Given the description of an element on the screen output the (x, y) to click on. 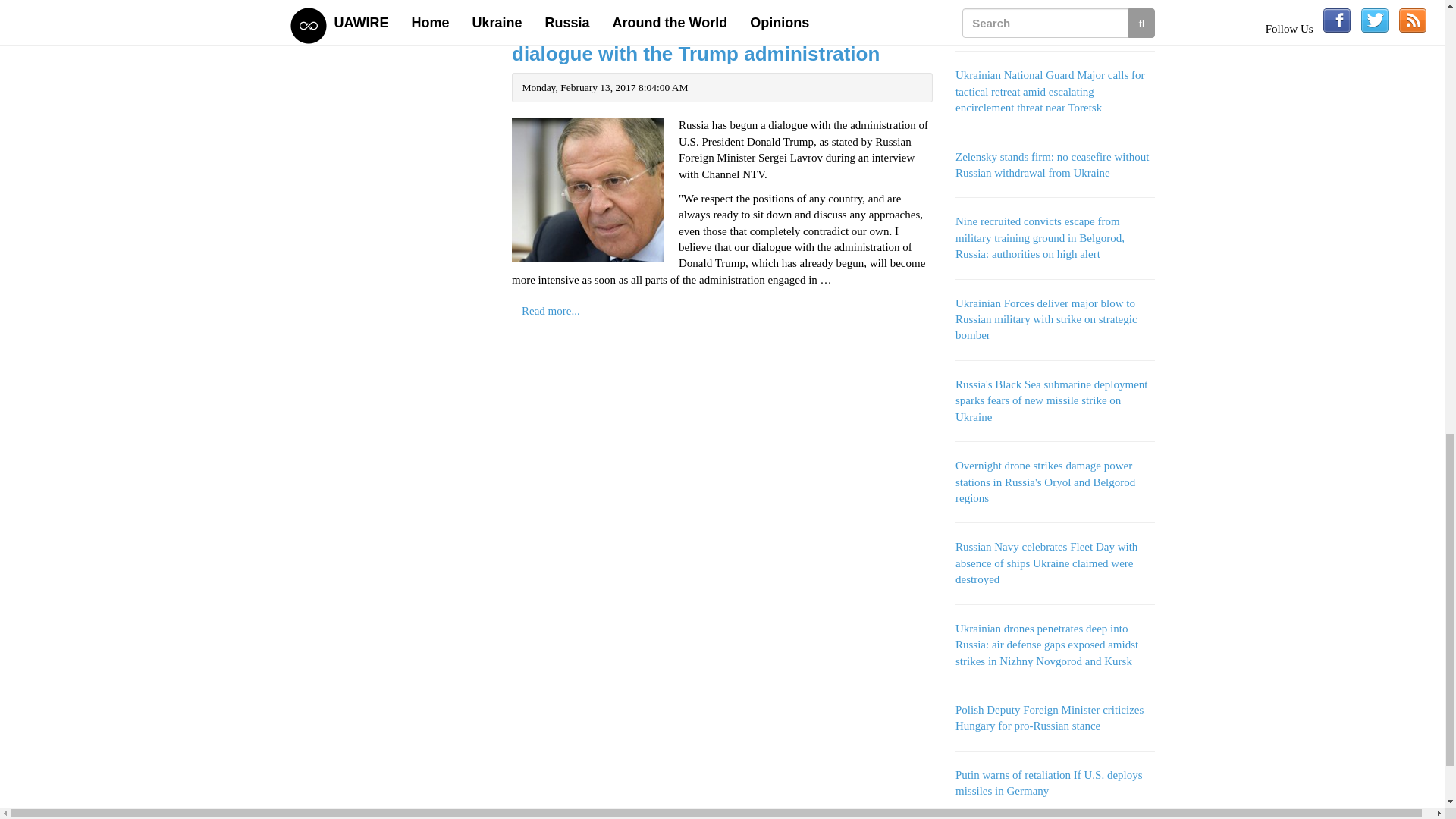
Read more... (550, 310)
Read more... (550, 2)
